Given the description of an element on the screen output the (x, y) to click on. 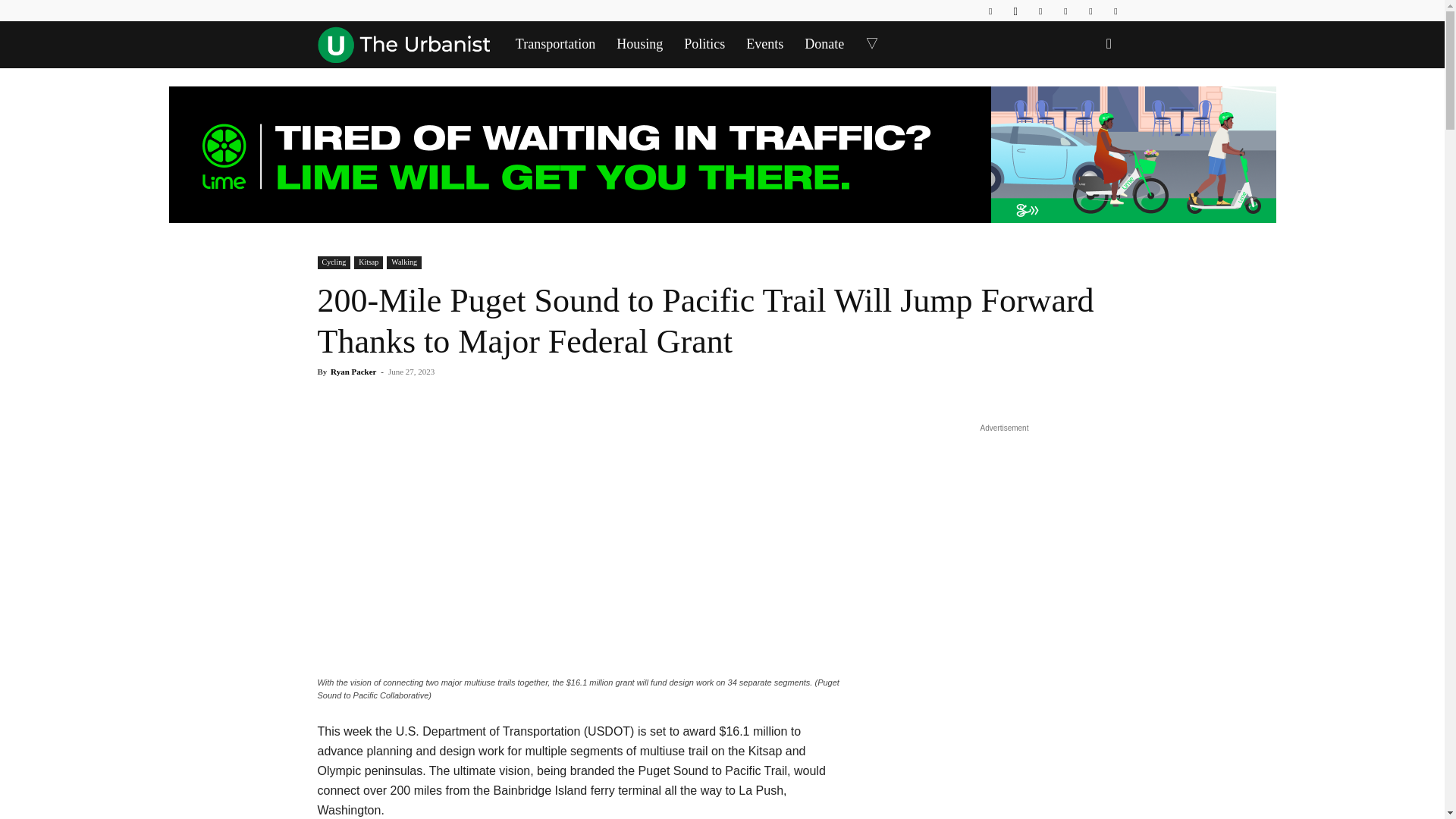
The Urbanist (403, 44)
Youtube (1114, 10)
Instagram (1015, 10)
Twitter (1090, 10)
RSS (1065, 10)
Linkedin (1040, 10)
Facebook (989, 10)
